Given the description of an element on the screen output the (x, y) to click on. 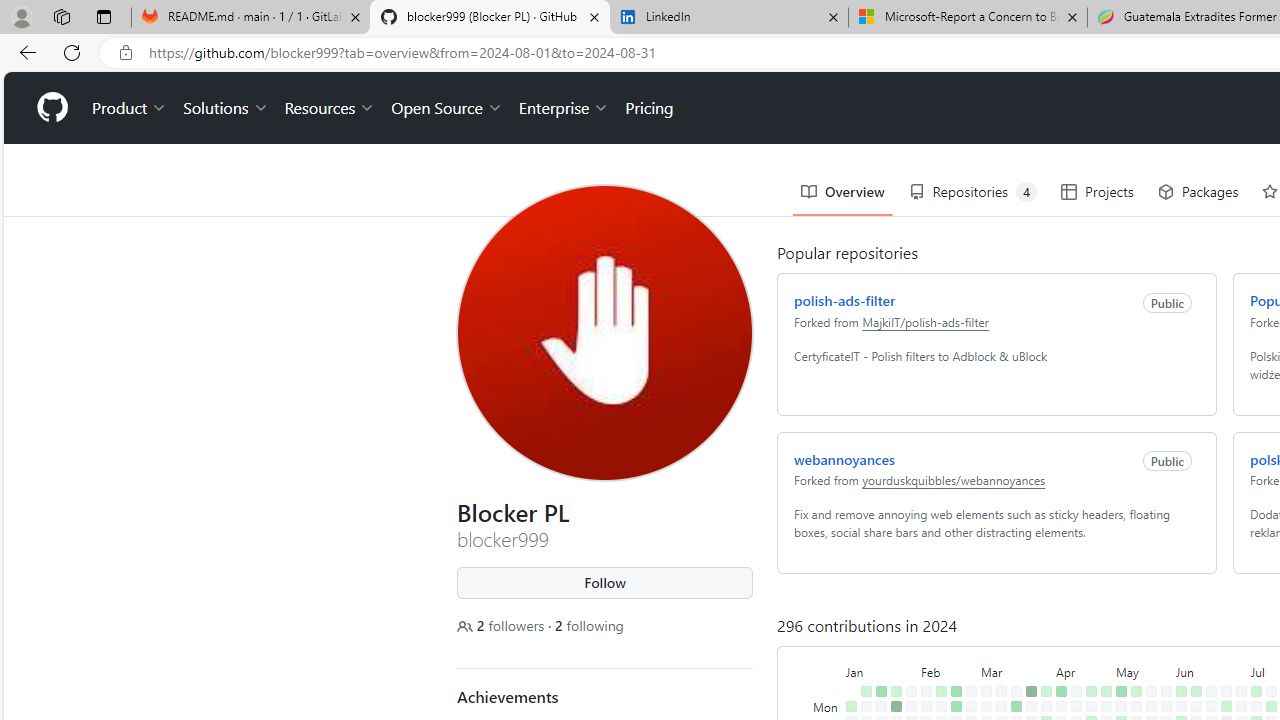
Enterprise (563, 107)
No contributions on May 19th. (1151, 691)
Day of Week (827, 670)
April (1084, 670)
Resources (330, 107)
Overview (843, 192)
Resources (330, 107)
Pricing (649, 107)
No contributions on March 10th. (1001, 691)
Repositories 4 (971, 192)
MajkiIT/polish-ads-filter (925, 321)
No contributions on February 25th. (971, 691)
